Given the description of an element on the screen output the (x, y) to click on. 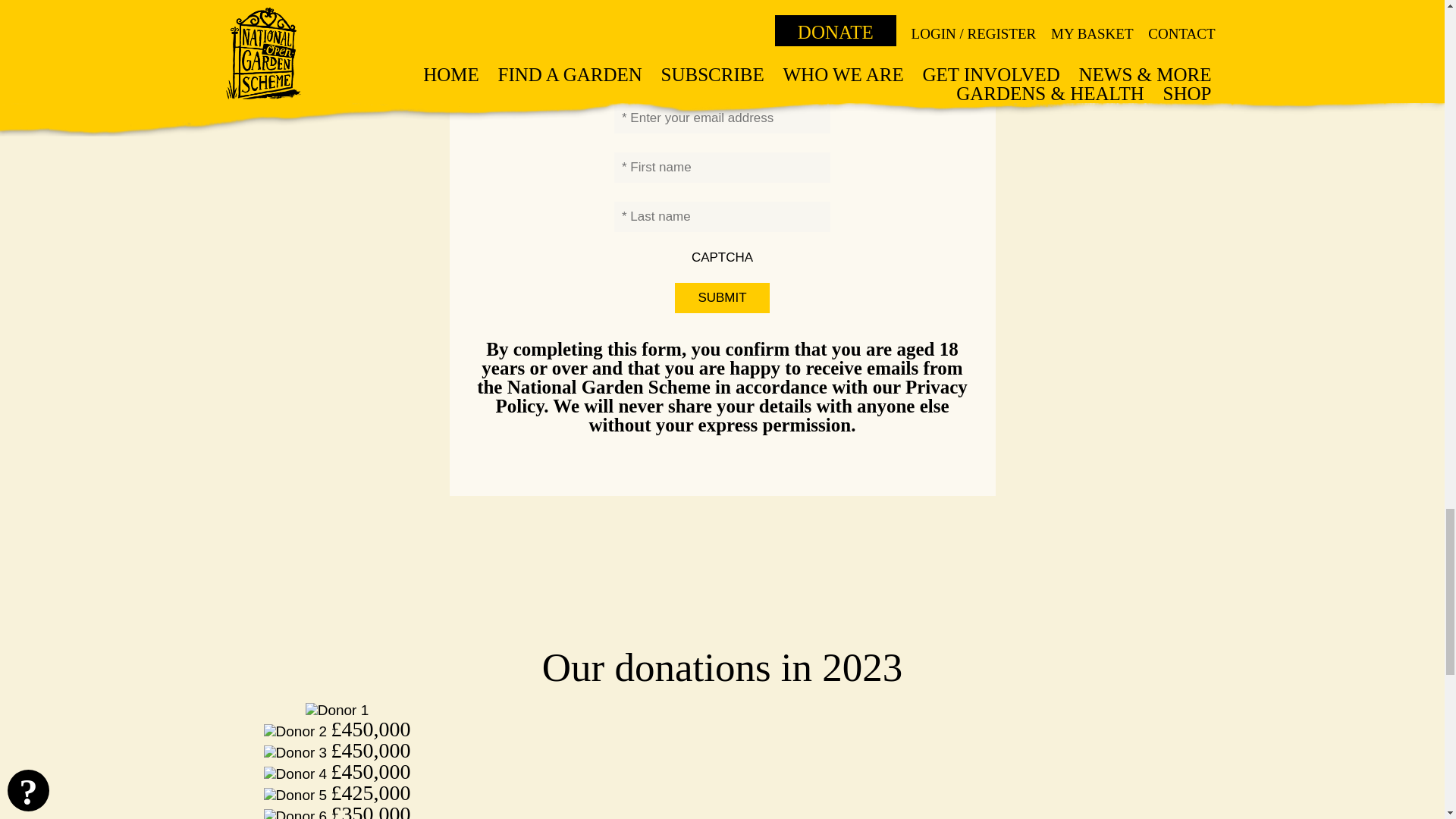
Submit (721, 297)
